Given the description of an element on the screen output the (x, y) to click on. 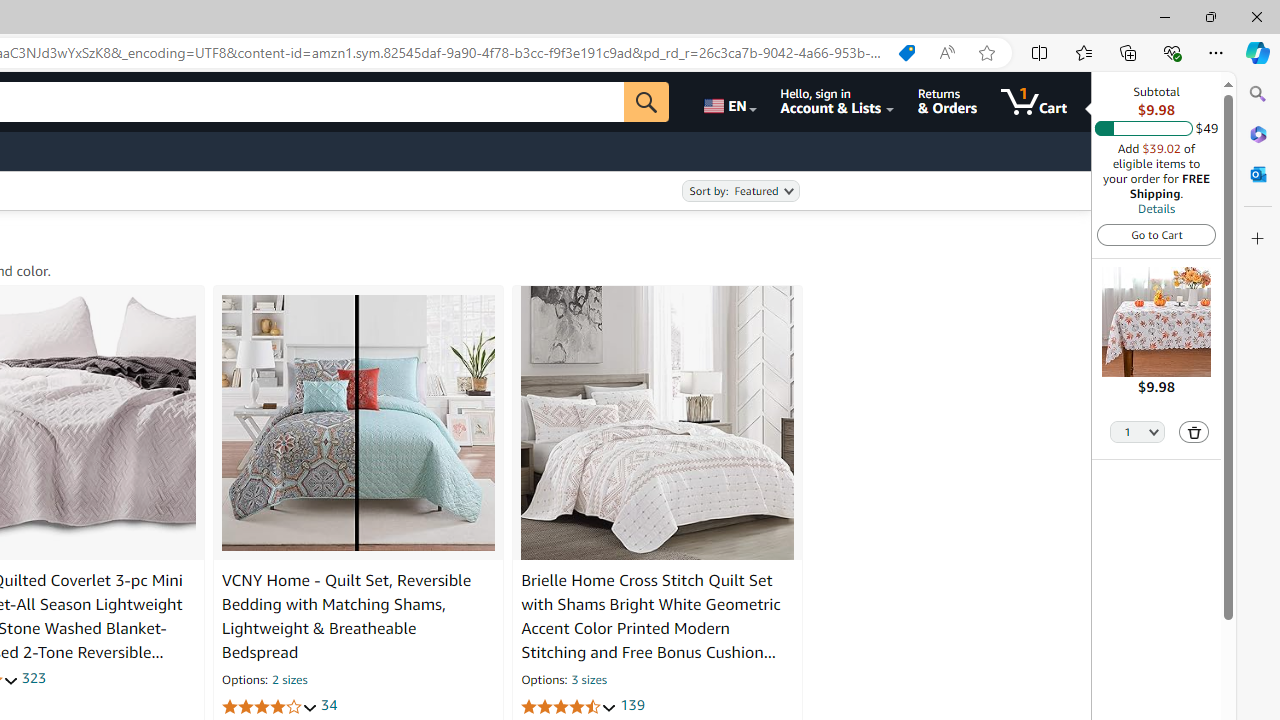
139 (632, 705)
Delete (1193, 431)
Sort by: (740, 191)
Delete (1194, 431)
Returns & Orders (946, 101)
